Given the description of an element on the screen output the (x, y) to click on. 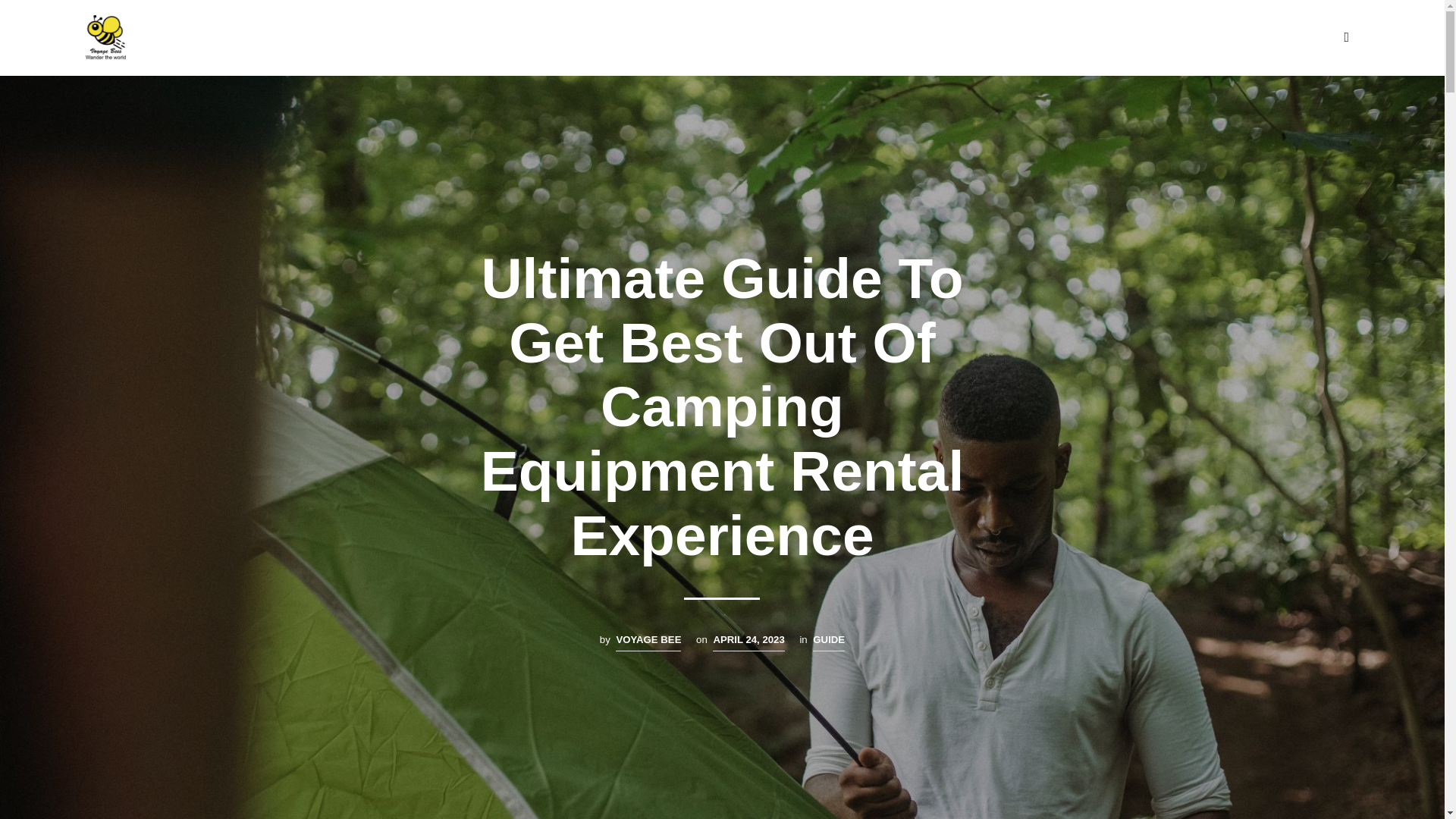
APRIL 24, 2023 (748, 641)
GUIDE (828, 641)
VOYAGE BEE (648, 641)
View all posts by Voyage Bee (648, 641)
